Given the description of an element on the screen output the (x, y) to click on. 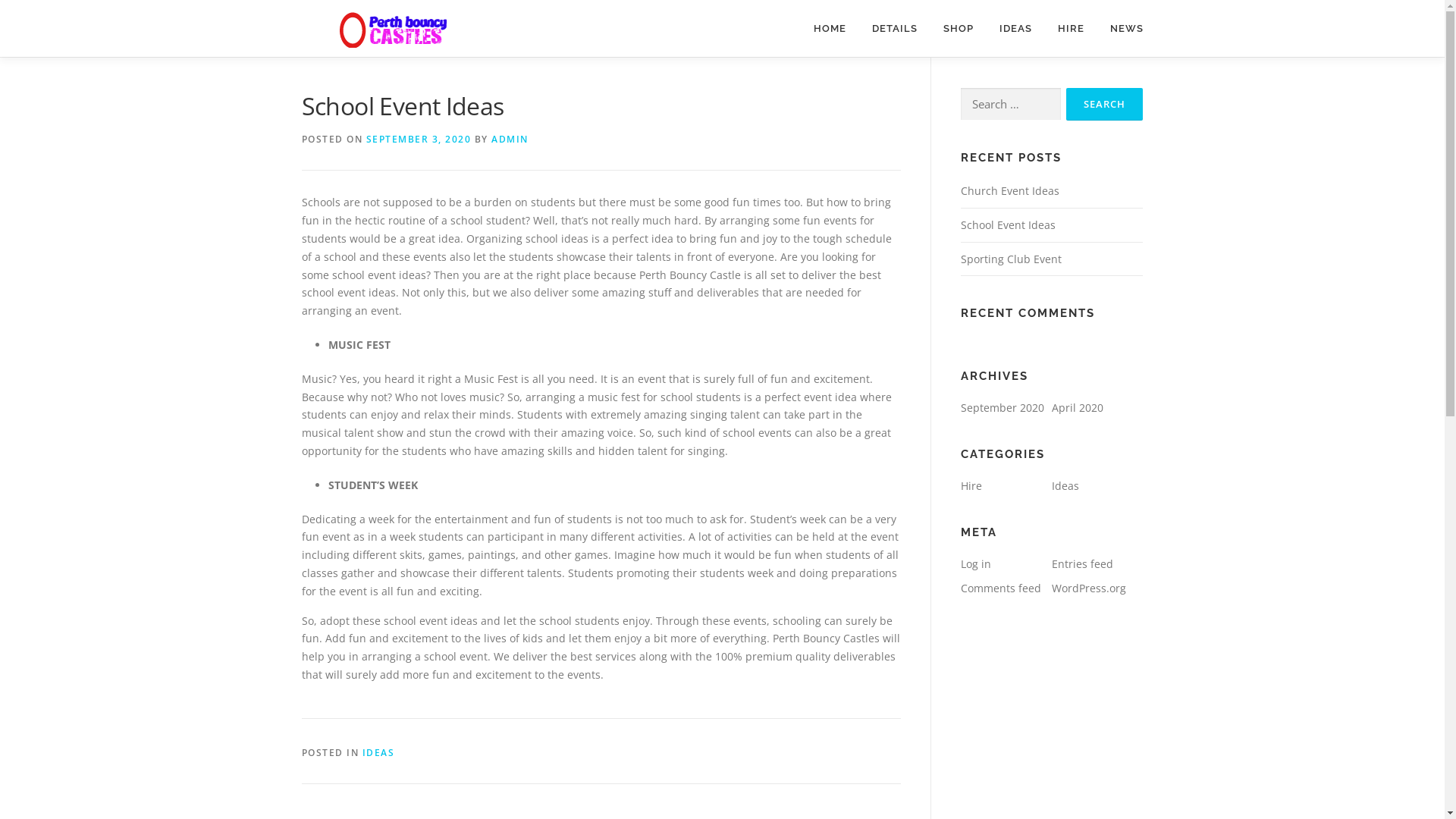
SHOP Element type: text (957, 28)
WordPress.org Element type: text (1088, 587)
Search Element type: text (1104, 103)
HOME Element type: text (829, 28)
Church Event Ideas Element type: text (1009, 190)
DETAILS Element type: text (893, 28)
School Event Ideas Element type: text (1007, 224)
Entries feed Element type: text (1081, 563)
Log in Element type: text (975, 563)
ADMIN Element type: text (509, 138)
SEPTEMBER 3, 2020 Element type: text (417, 138)
Skip to content Element type: text (0, 0)
IDEAS Element type: text (378, 752)
Sporting Club Event Element type: text (1010, 258)
HIRE Element type: text (1070, 28)
Ideas Element type: text (1064, 485)
Comments feed Element type: text (1000, 587)
September 2020 Element type: text (1001, 407)
April 2020 Element type: text (1076, 407)
IDEAS Element type: text (1014, 28)
NEWS Element type: text (1119, 28)
Hire Element type: text (970, 485)
